Given the description of an element on the screen output the (x, y) to click on. 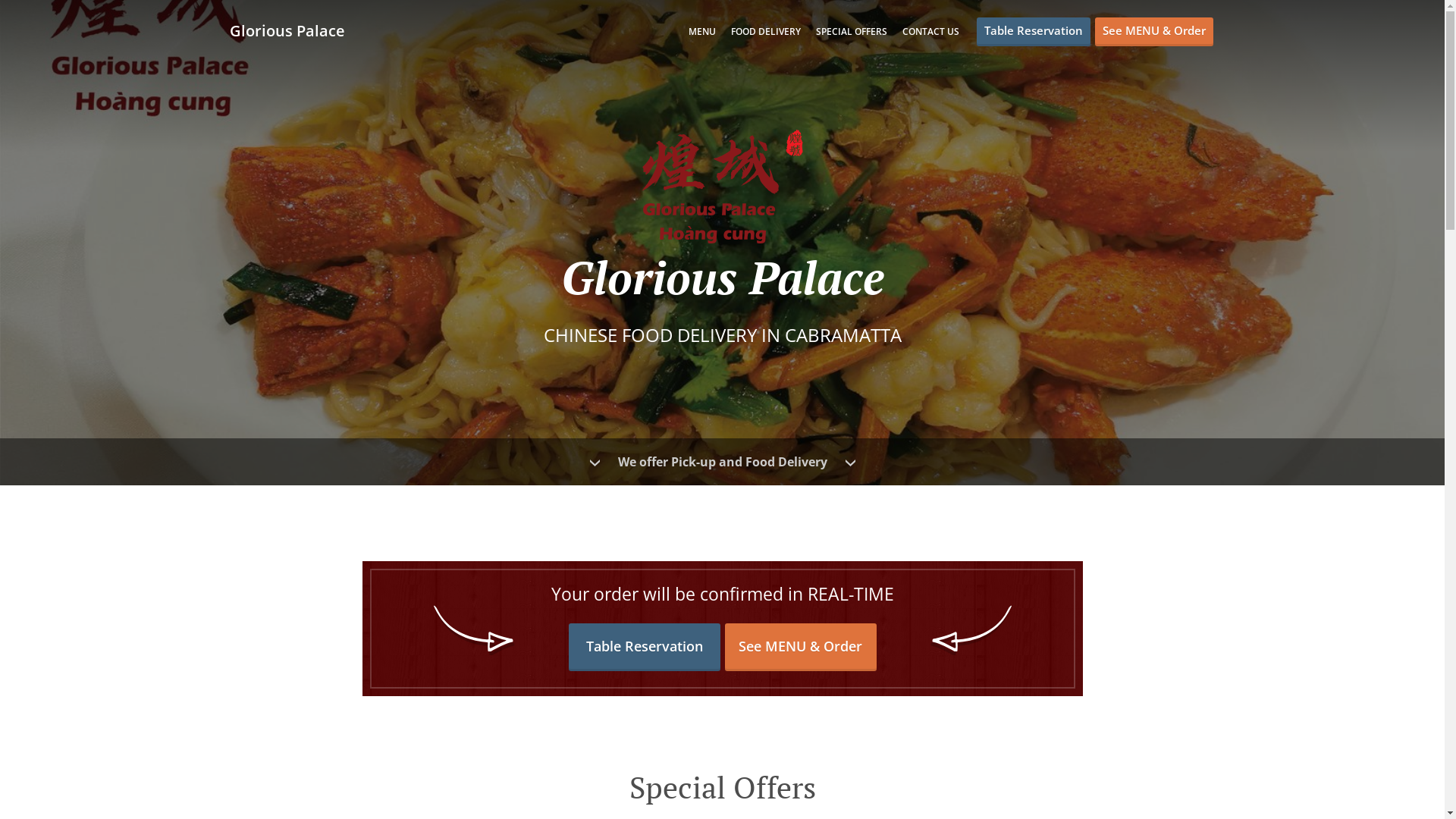
SPECIAL OFFERS Element type: text (851, 31)
CONTACT US Element type: text (930, 31)
MENU Element type: text (701, 31)
Glorious Palace Element type: text (294, 30)
FOOD DELIVERY Element type: text (765, 31)
